Given the description of an element on the screen output the (x, y) to click on. 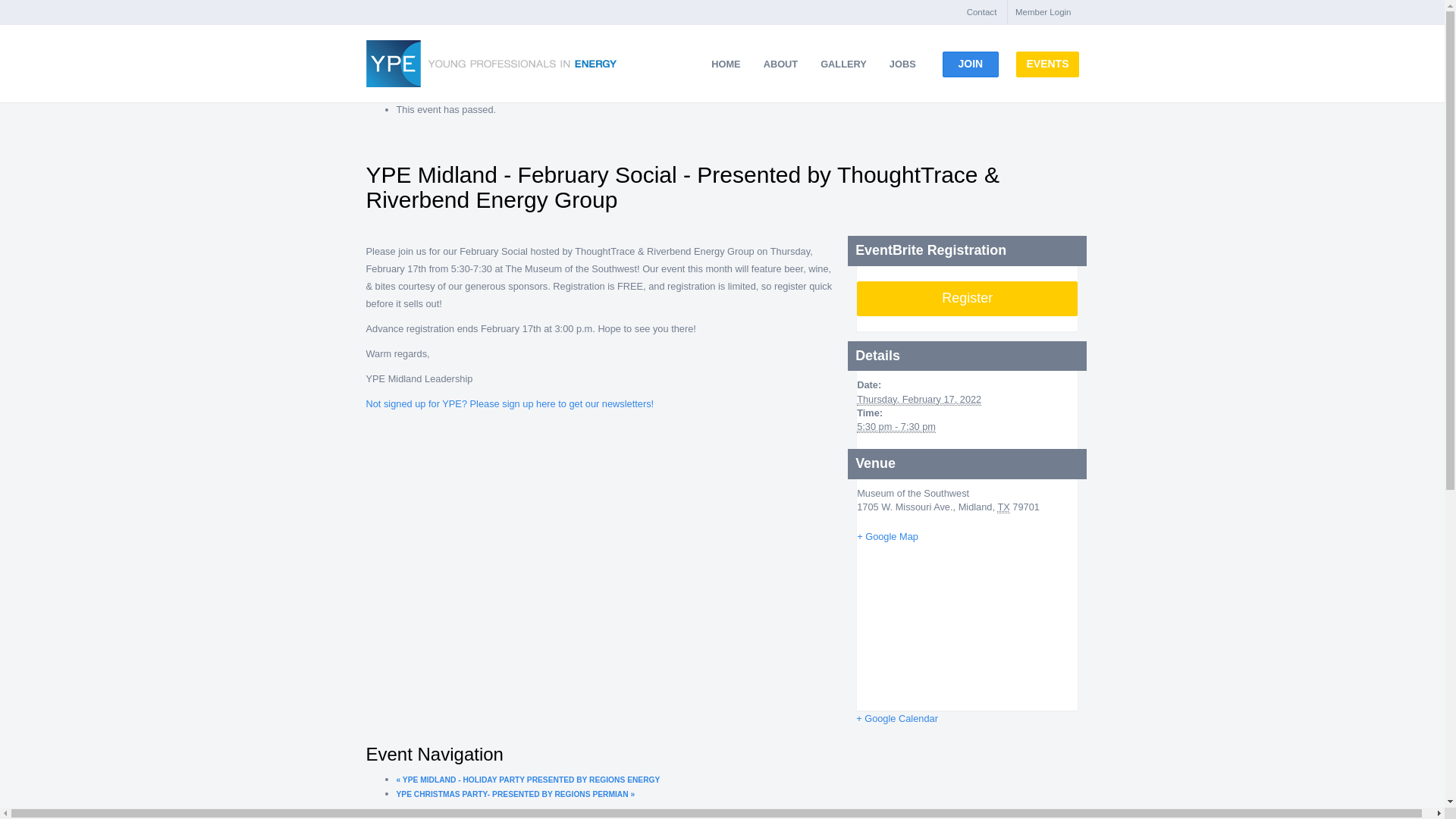
Young Professionals in Energy (490, 63)
Member Login (1042, 12)
2022-02-17 (919, 399)
Add to Google Calendar (896, 717)
HOME (725, 64)
Register (967, 298)
ABOUT (780, 64)
Contact (981, 12)
Texas (1003, 507)
